Given the description of an element on the screen output the (x, y) to click on. 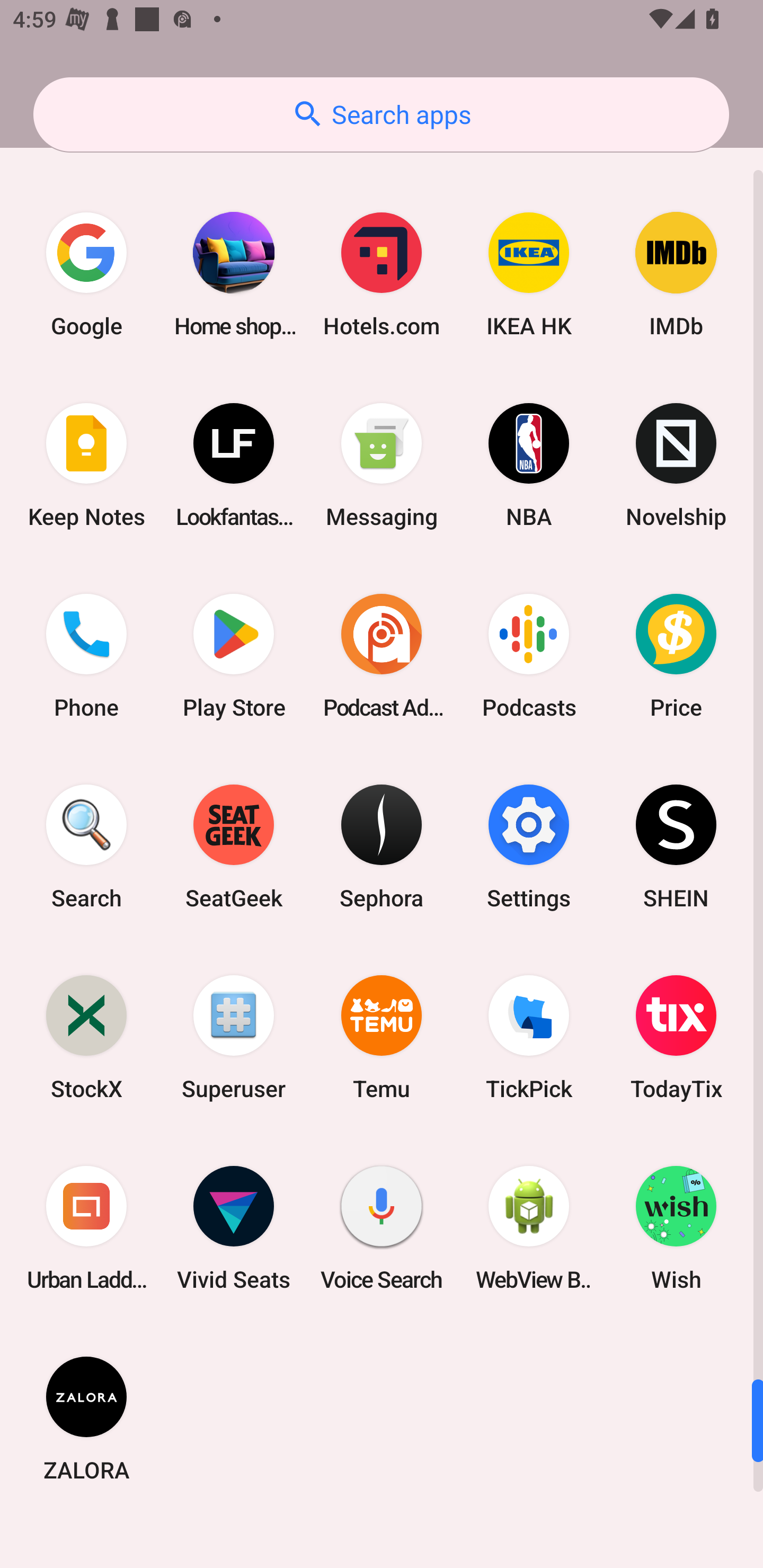
  Search apps (381, 114)
Google (86, 274)
Home shopping (233, 274)
Hotels.com (381, 274)
IKEA HK (528, 274)
IMDb (676, 274)
Keep Notes (86, 464)
Lookfantastic (233, 464)
Messaging (381, 464)
NBA (528, 464)
Novelship (676, 464)
Phone (86, 655)
Play Store (233, 655)
Podcast Addict (381, 655)
Podcasts (528, 655)
Price (676, 655)
Search (86, 846)
SeatGeek (233, 846)
Sephora (381, 846)
Settings (528, 846)
SHEIN (676, 846)
StockX (86, 1037)
Superuser (233, 1037)
Temu (381, 1037)
TickPick (528, 1037)
TodayTix (676, 1037)
Urban Ladder (86, 1227)
Vivid Seats (233, 1227)
Voice Search (381, 1227)
WebView Browser Tester (528, 1227)
Wish (676, 1227)
ZALORA (86, 1418)
